Given the description of an element on the screen output the (x, y) to click on. 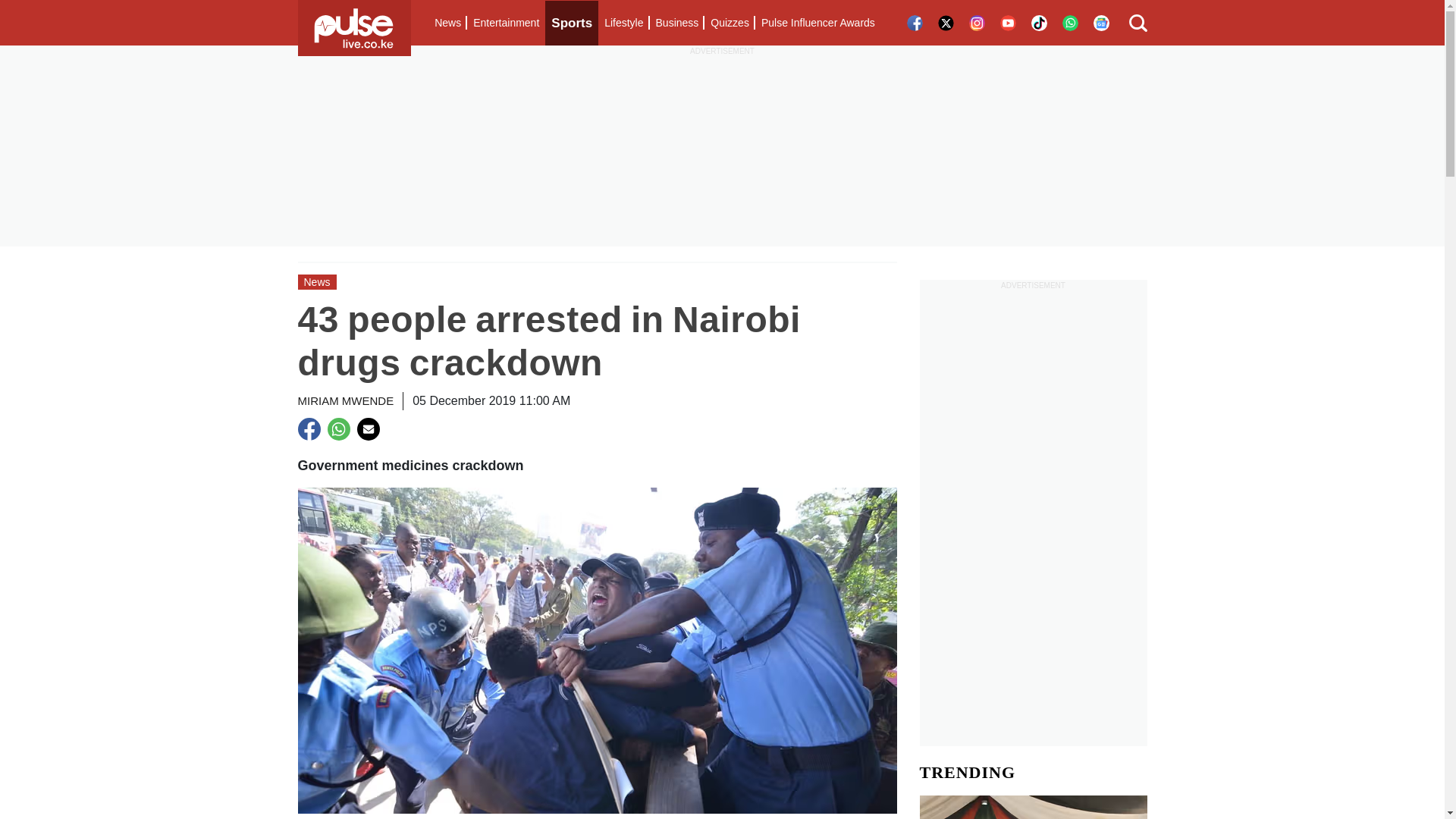
Lifestyle (623, 22)
Pulse Influencer Awards (817, 22)
Quizzes (729, 22)
Business (676, 22)
Entertainment (505, 22)
Sports (571, 22)
